Given the description of an element on the screen output the (x, y) to click on. 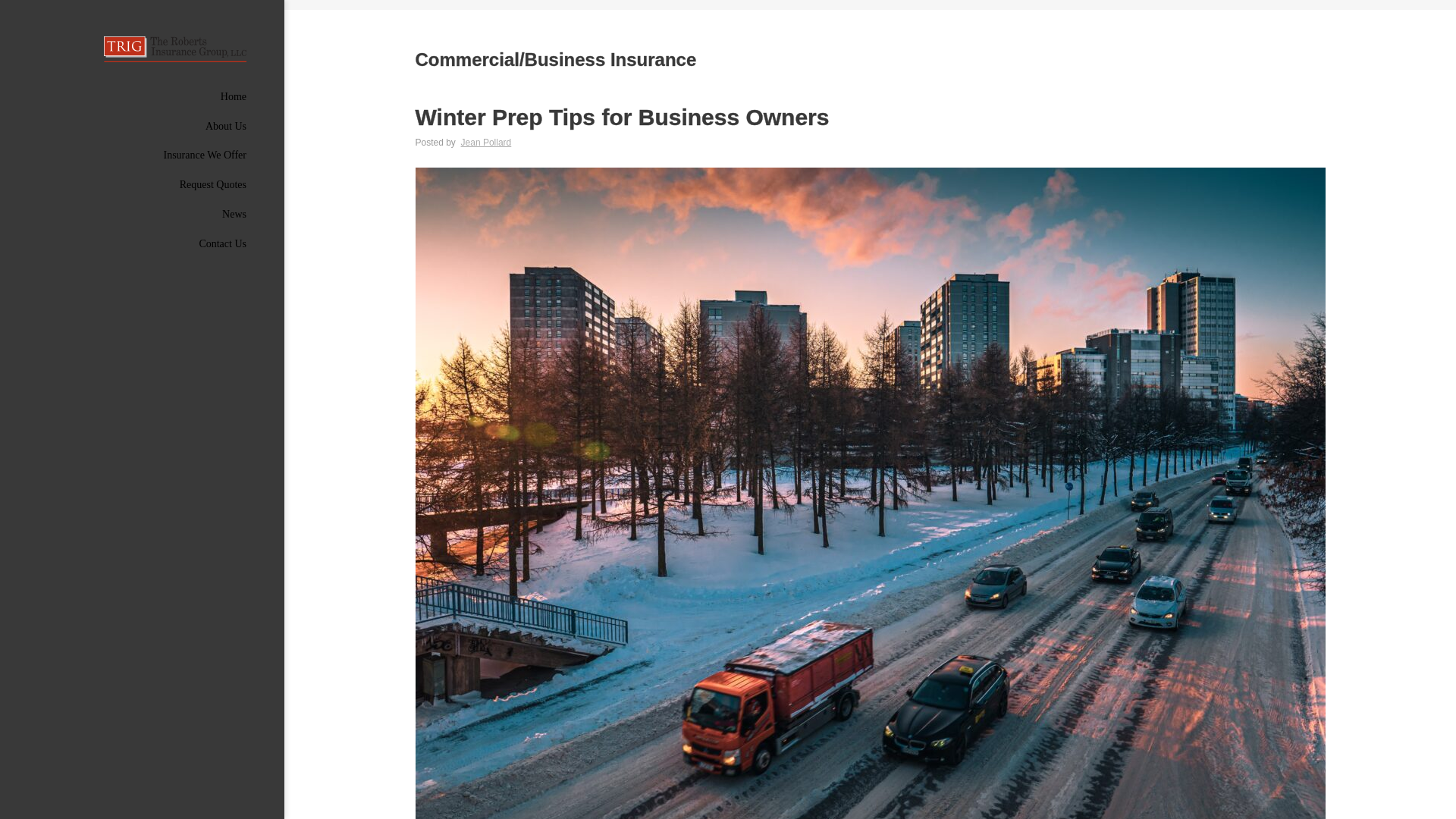
View all posts by Jean Pollard (486, 142)
News (141, 214)
Insurance We Offer (141, 155)
Permalink to Winter Prep Tips for Business Owners (869, 117)
Jean Pollard (486, 142)
Contact Us (141, 243)
Request Quotes (141, 184)
Winter Prep Tips for Business Owners (869, 117)
Home (141, 96)
